Given the description of an element on the screen output the (x, y) to click on. 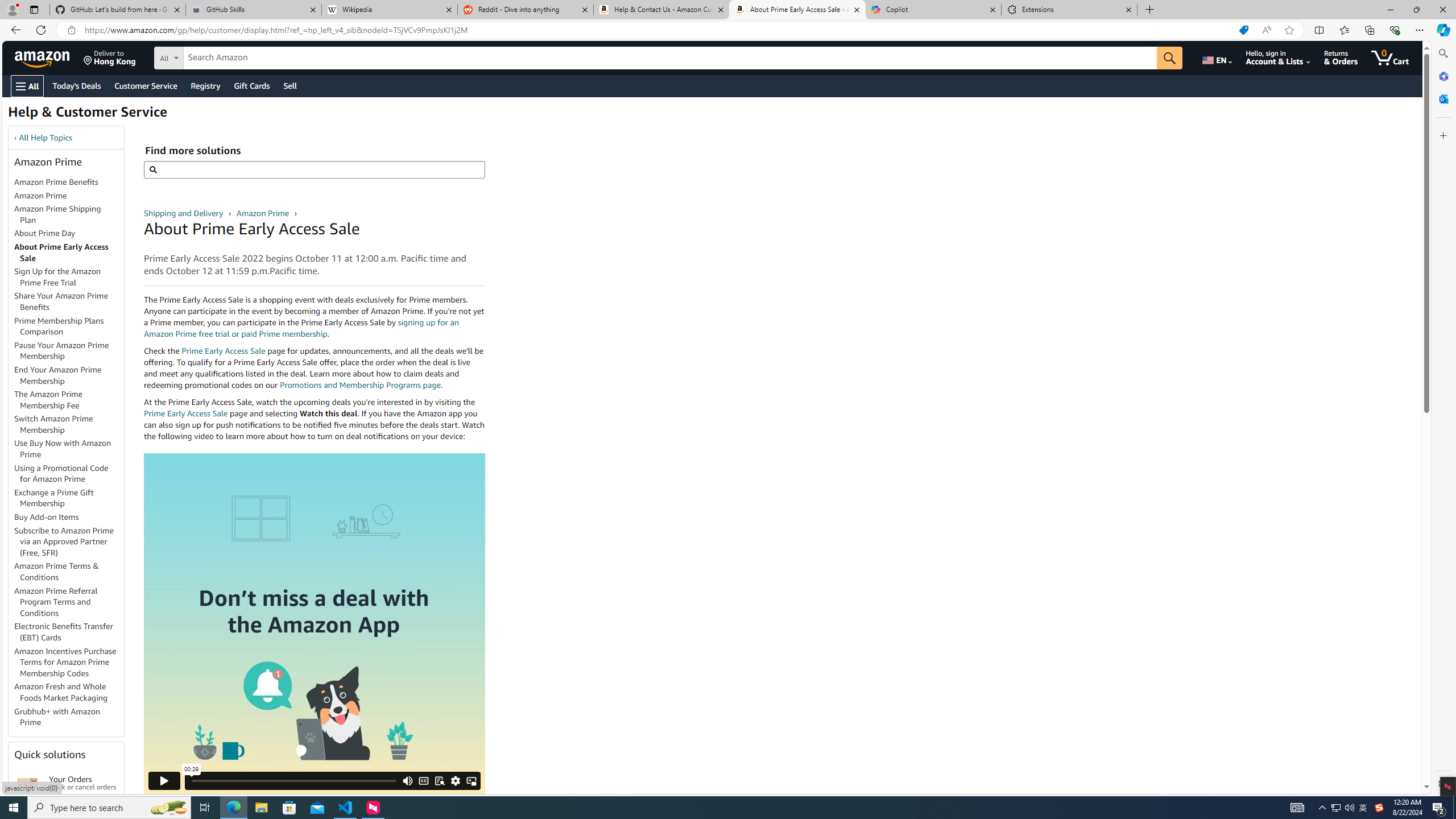
Using a Promotional Code for Amazon Prime (68, 473)
Reddit - Dive into anything (525, 9)
Amazon Fresh and Whole Foods Market Packaging (68, 692)
Your Orders (27, 782)
Grubhub+ with Amazon Prime (68, 716)
Sell (290, 85)
Amazon Fresh and Whole Foods Market Packaging (60, 691)
About Prime Early Access Sale - Amazon Customer Service (797, 9)
Your Orders Track or cancel orders (82, 782)
Returns & Orders (1340, 57)
Customer Service (145, 85)
